Given the description of an element on the screen output the (x, y) to click on. 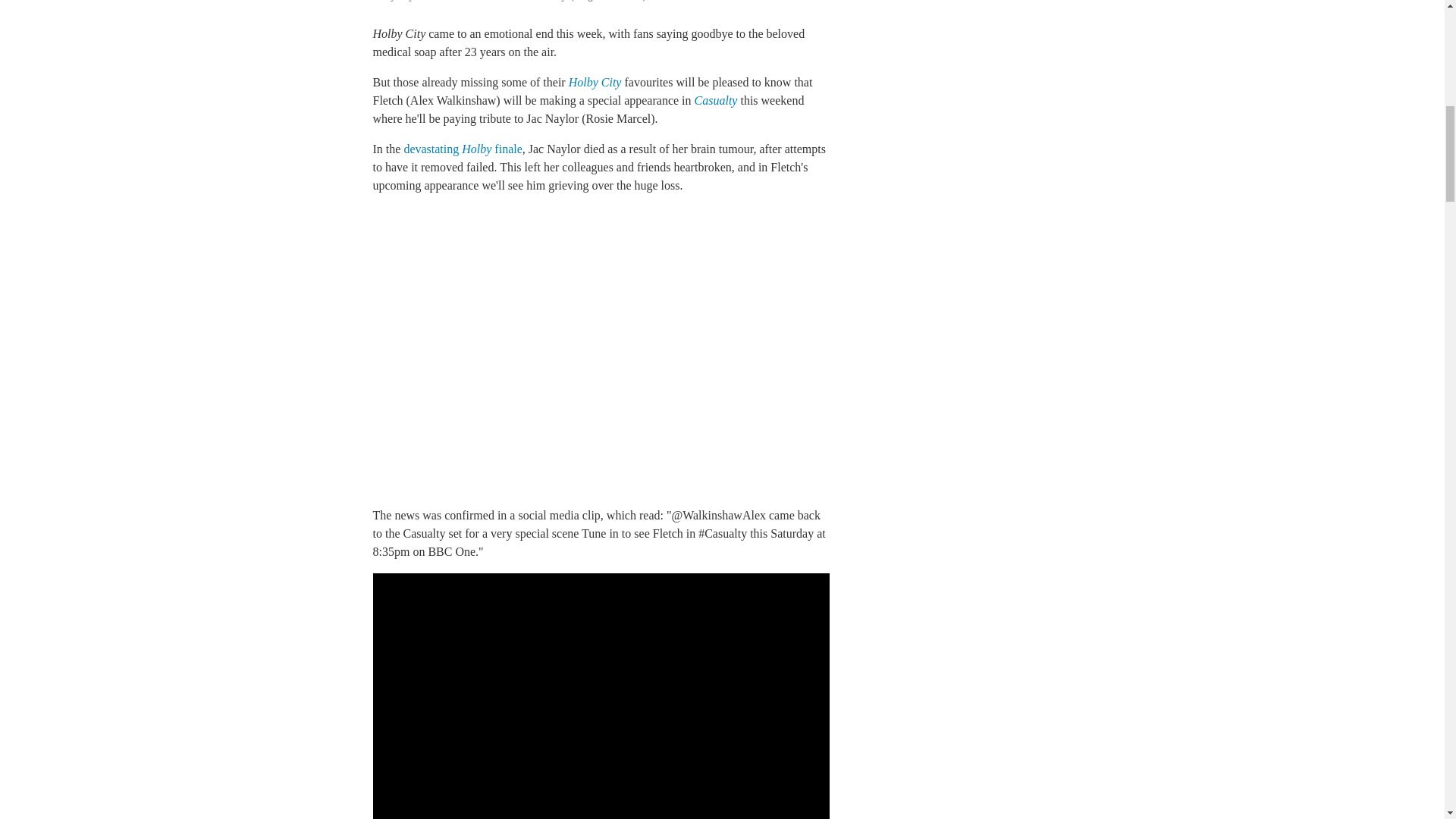
Holby City (596, 82)
Casualty (717, 100)
